Given the description of an element on the screen output the (x, y) to click on. 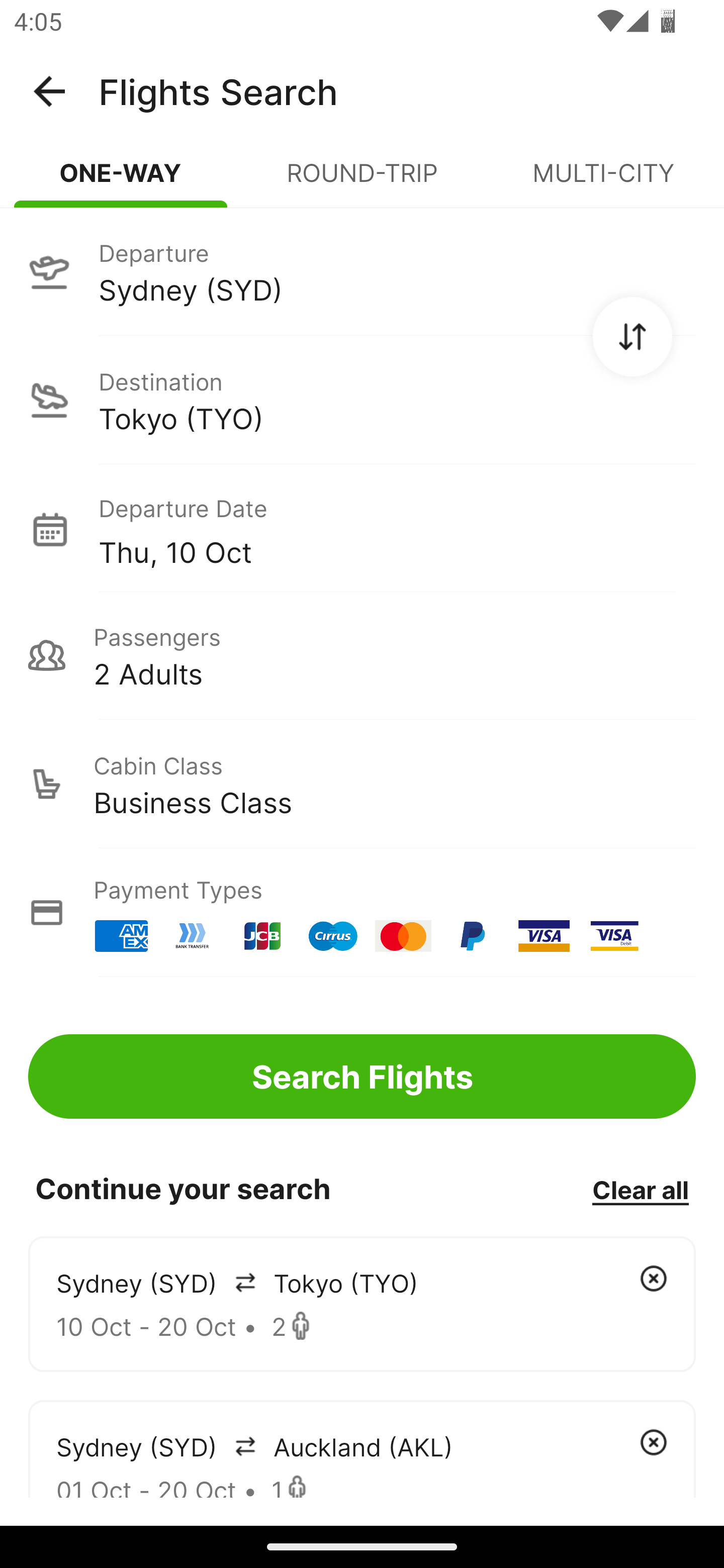
ONE-WAY (120, 180)
ROUND-TRIP (361, 180)
MULTI-CITY (603, 180)
Departure Sydney (SYD) (362, 270)
Destination Tokyo (TYO) (362, 400)
Departure Date Thu, 10 Oct (396, 528)
Passengers 2 Adults (362, 655)
Cabin Class Business Class (362, 783)
Payment Types (362, 912)
Search Flights (361, 1075)
Clear all (640, 1189)
